Given the description of an element on the screen output the (x, y) to click on. 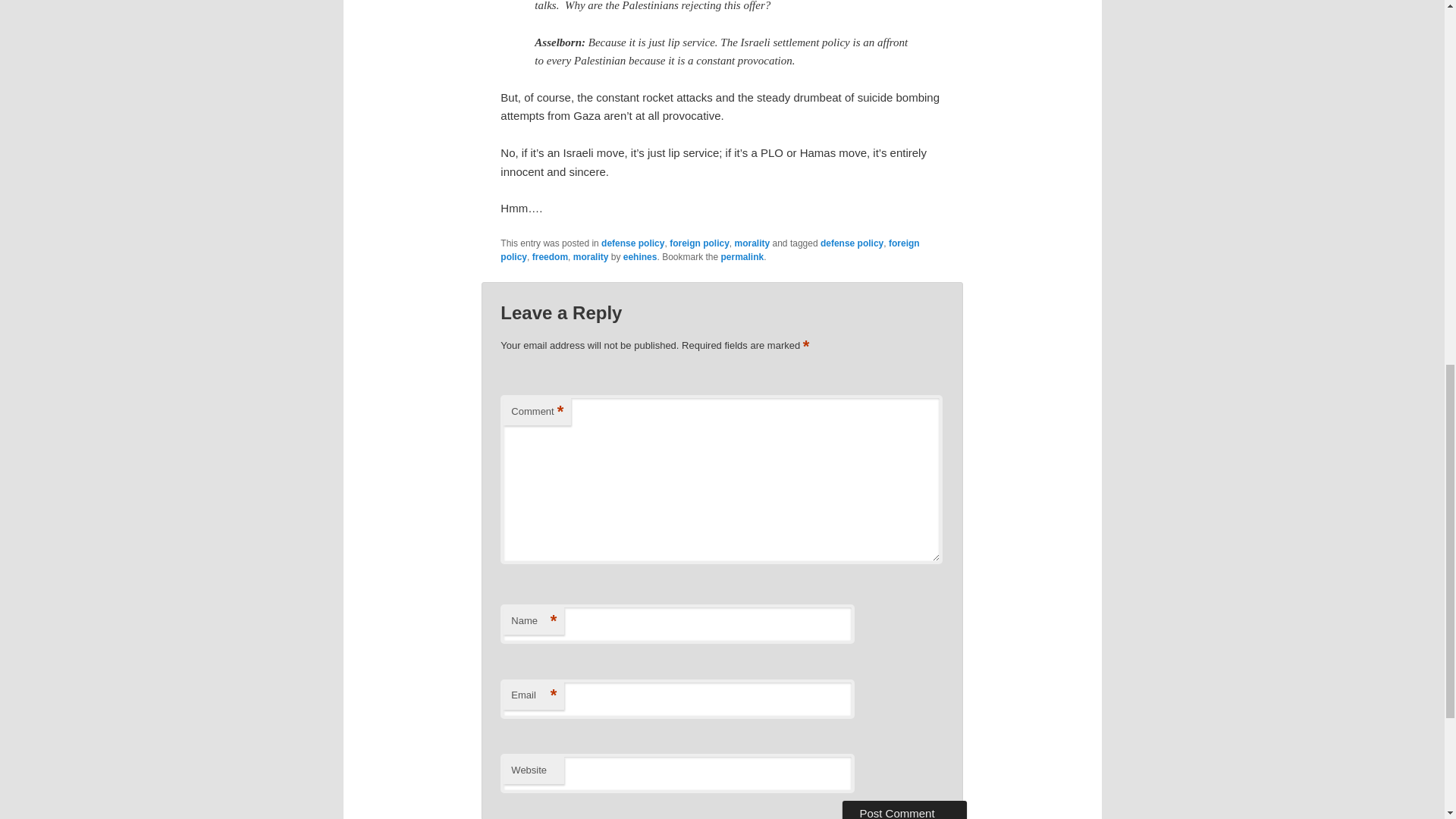
permalink (742, 256)
defense policy (852, 243)
Post Comment (904, 809)
Post Comment (904, 809)
foreign policy (699, 243)
morality (751, 243)
morality (590, 256)
eehines (640, 256)
Permalink to Europe and Terrorism (742, 256)
foreign policy (709, 250)
